Given the description of an element on the screen output the (x, y) to click on. 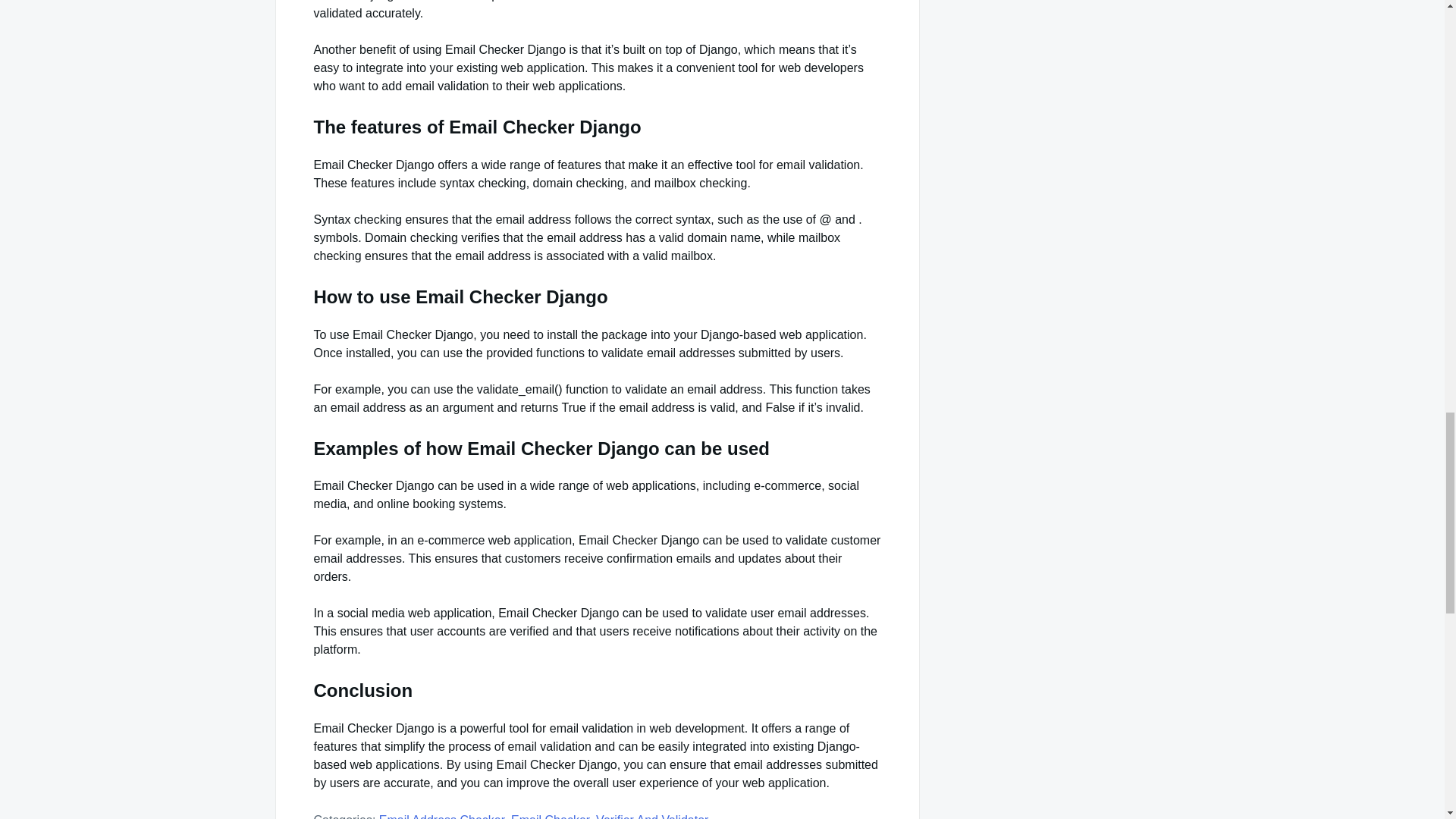
Email Address Checker (440, 816)
Email Checker, Verifier And Validator (609, 816)
